Given the description of an element on the screen output the (x, y) to click on. 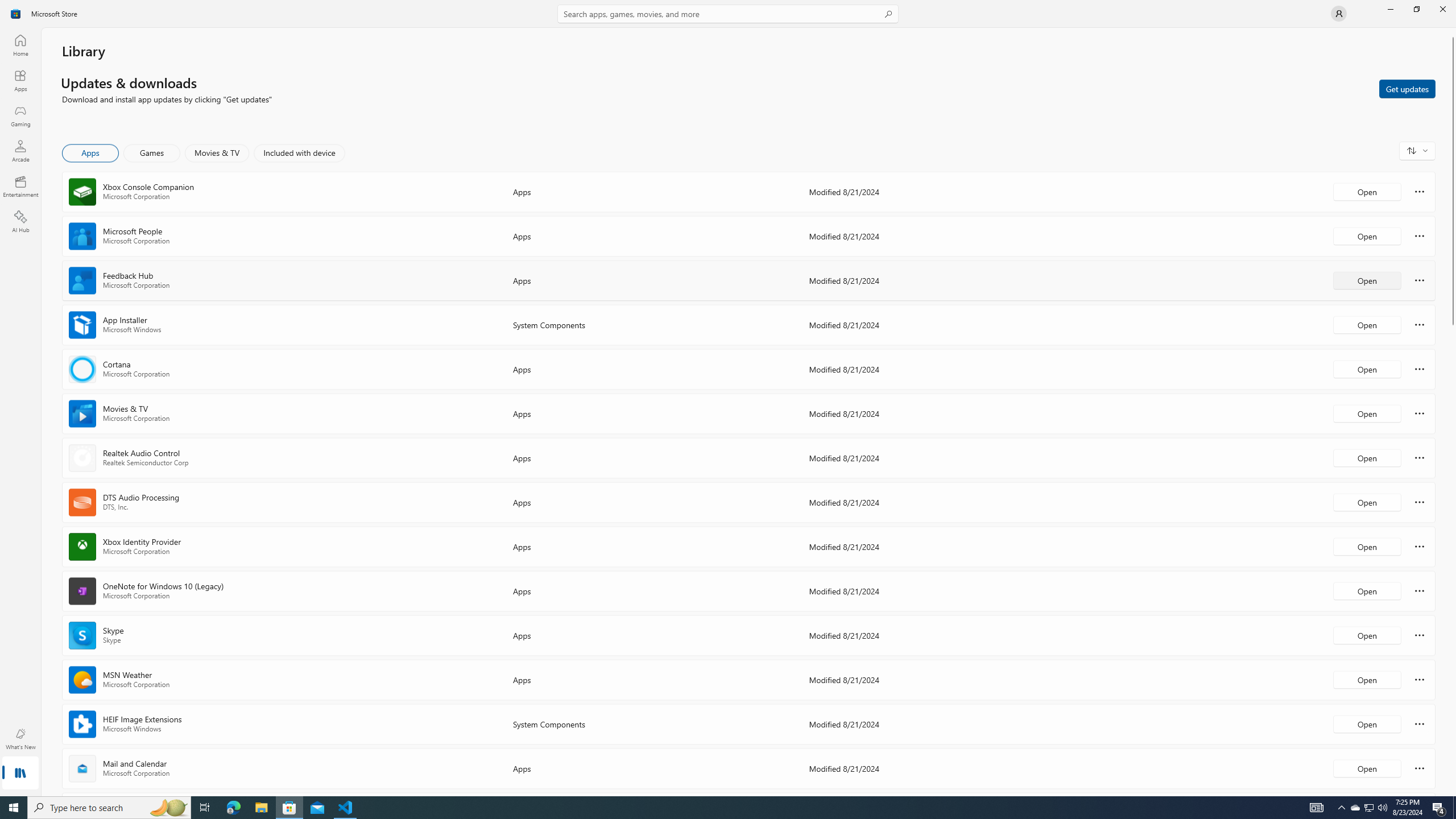
AutomationID: NavigationControl (728, 398)
Minimize Microsoft Store (1390, 9)
Apps (90, 153)
Restore Microsoft Store (1416, 9)
Open (1366, 768)
Games (151, 153)
AI Hub (20, 221)
Home (20, 45)
Apps (20, 80)
Search (727, 13)
Vertical Small Increase (1452, 792)
Vertical Small Decrease (1452, 31)
Class: Image (15, 13)
Close Microsoft Store (1442, 9)
Vertical (1452, 412)
